Given the description of an element on the screen output the (x, y) to click on. 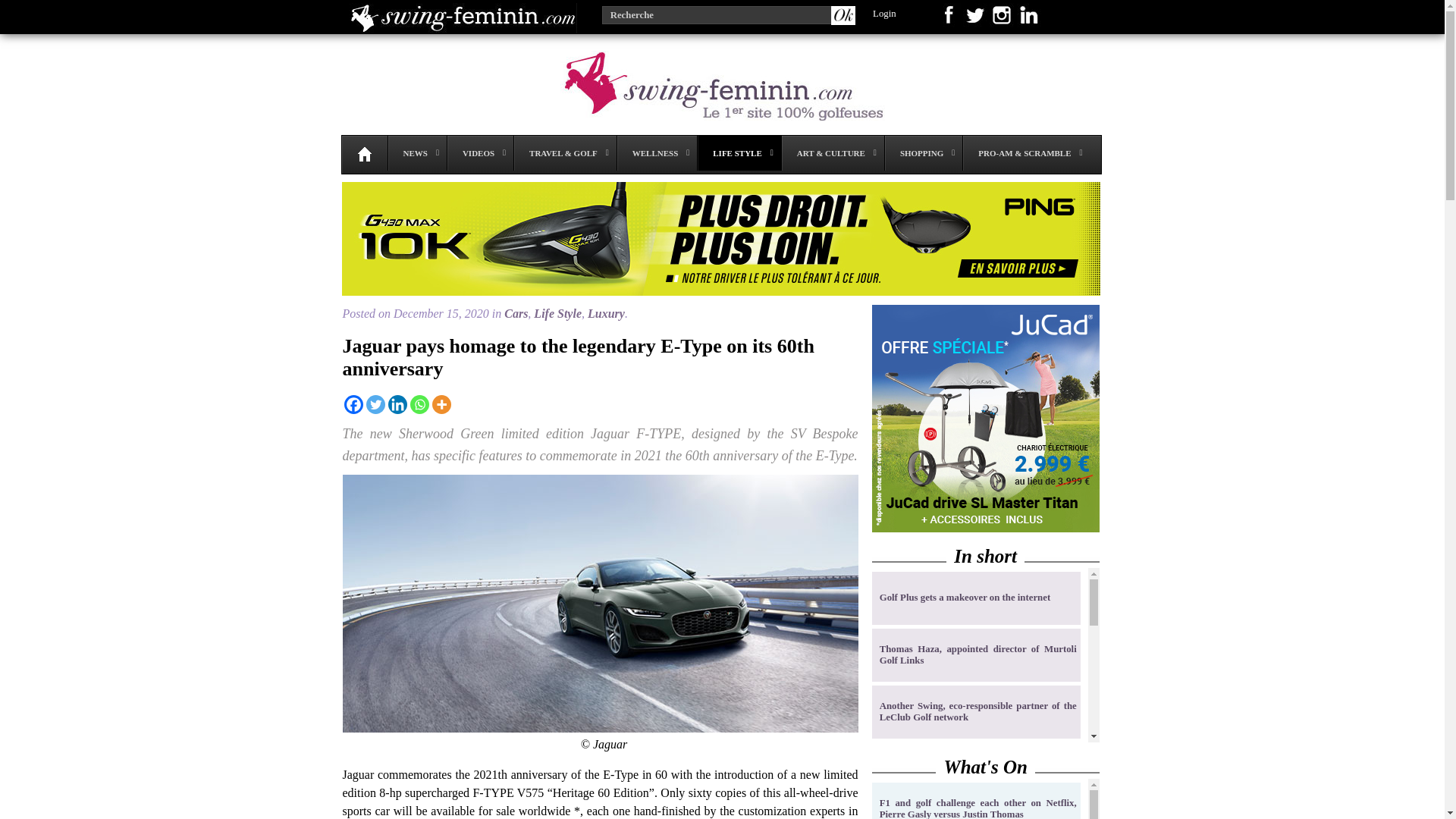
Permanent Link to Golf Plus gets a makeover on the internet (978, 597)
NEWS (416, 152)
LinkedIn (397, 404)
Twitter (374, 404)
More (441, 404)
Whatsapp (418, 404)
Facebook (352, 404)
